Given the description of an element on the screen output the (x, y) to click on. 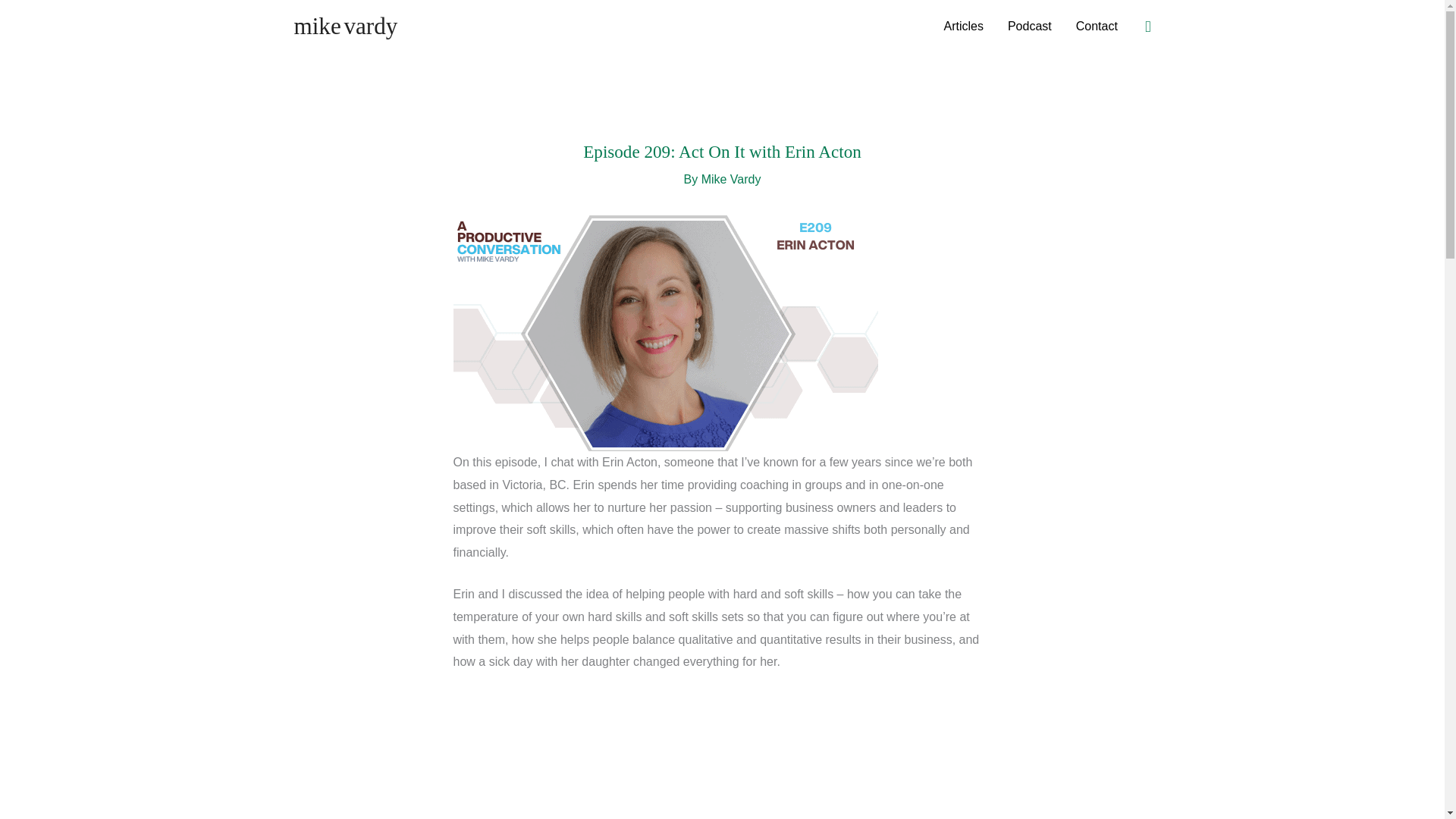
Mike Vardy (731, 178)
Podcast (1029, 26)
Contact (1096, 26)
mike vardy (345, 26)
Articles (962, 26)
View all posts by Mike Vardy (731, 178)
